Given the description of an element on the screen output the (x, y) to click on. 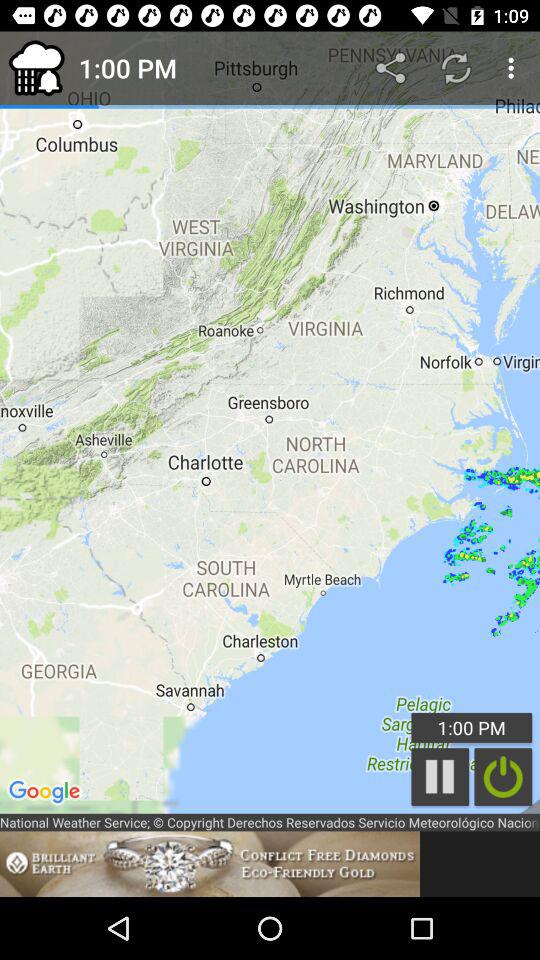
open the settings power (503, 776)
